Given the description of an element on the screen output the (x, y) to click on. 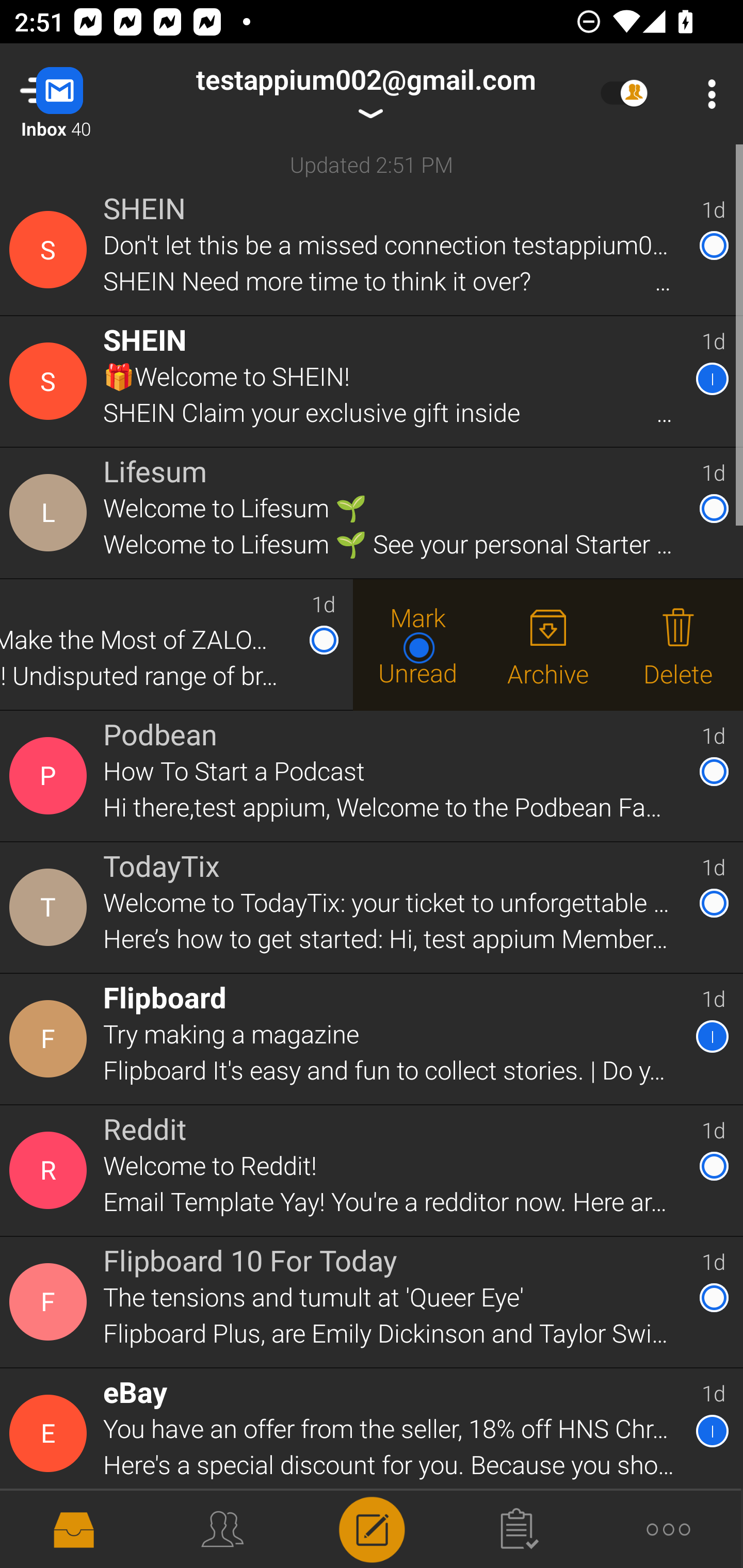
Navigate up (81, 93)
testappium002@gmail.com (365, 93)
More Options (706, 93)
Updated 2:51 PM (371, 164)
Contact Details (50, 250)
Contact Details (50, 381)
Contact Details (50, 513)
Unread Mark (417, 644)
Archive (547, 644)
Delete (677, 644)
Contact Details (50, 776)
Contact Details (50, 907)
Contact Details (50, 1038)
Contact Details (50, 1170)
Contact Details (50, 1302)
Contact Details (50, 1433)
